Given the description of an element on the screen output the (x, y) to click on. 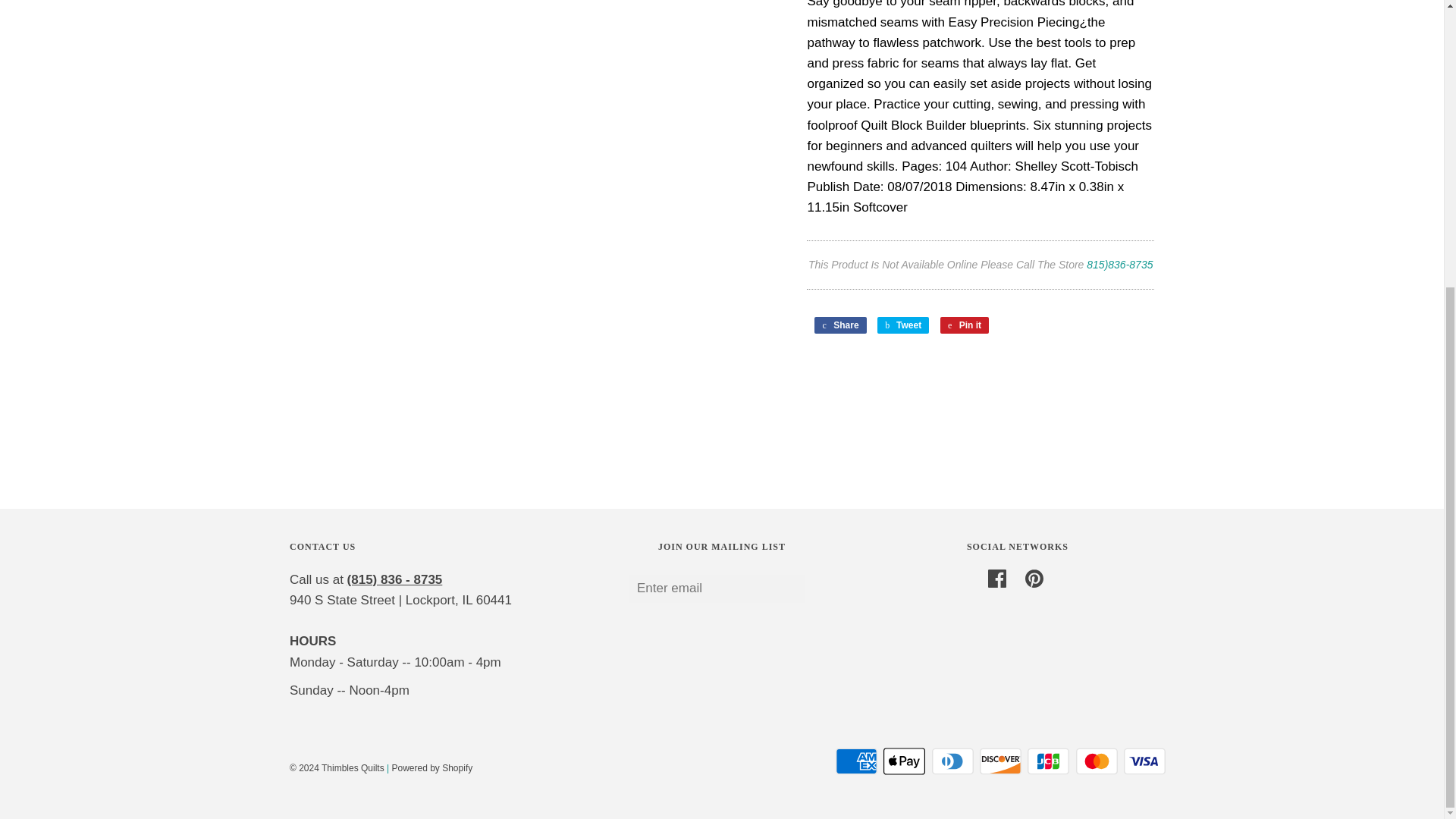
Diners Club (952, 761)
Mastercard (1096, 761)
Apple Pay (903, 761)
Facebook icon (997, 578)
JCB (1047, 761)
Discover (1000, 761)
American Express (856, 761)
Pinterest icon (1034, 578)
Visa (1145, 761)
